Given the description of an element on the screen output the (x, y) to click on. 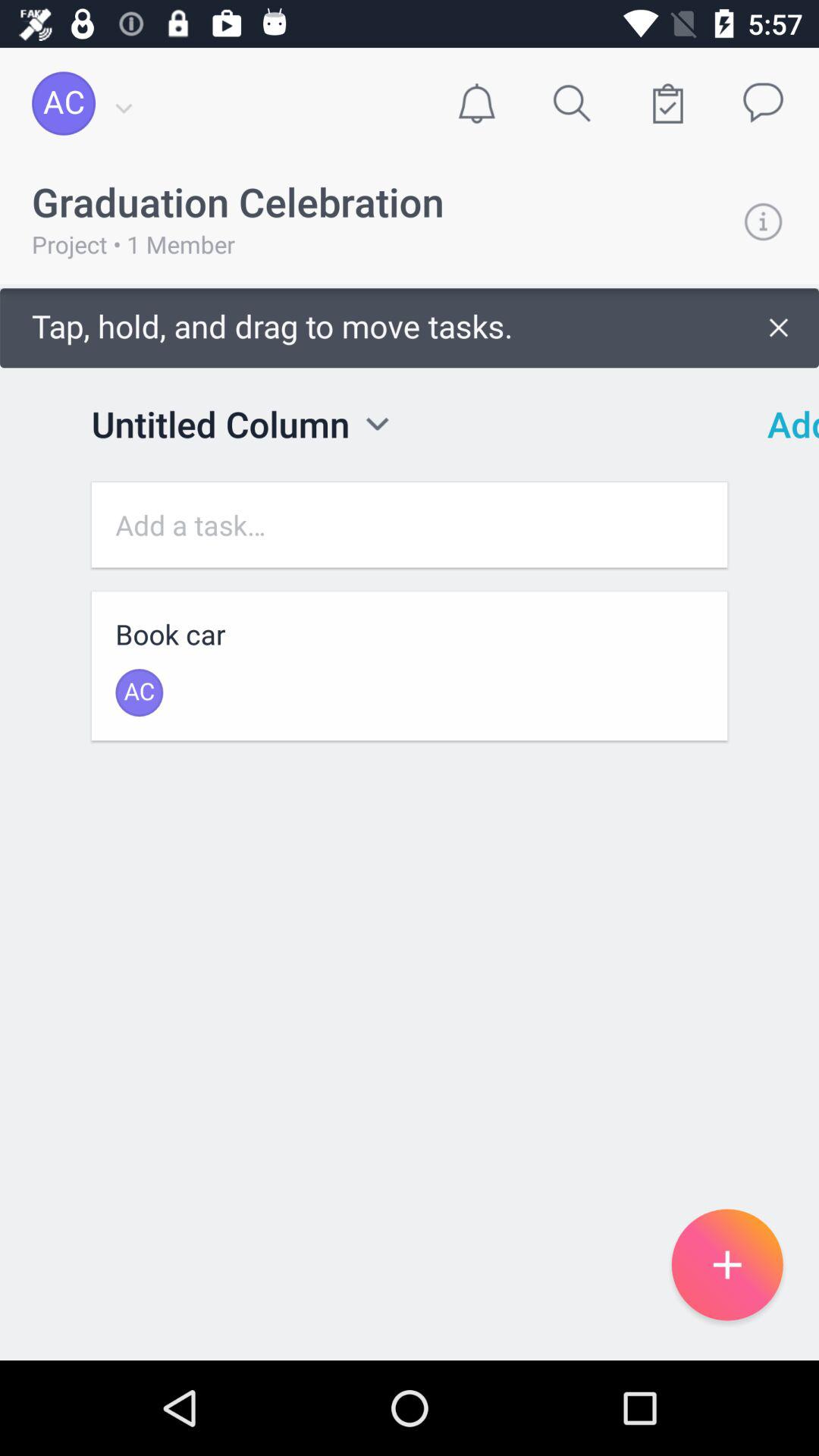
click the item above the book car item (409, 524)
